Given the description of an element on the screen output the (x, y) to click on. 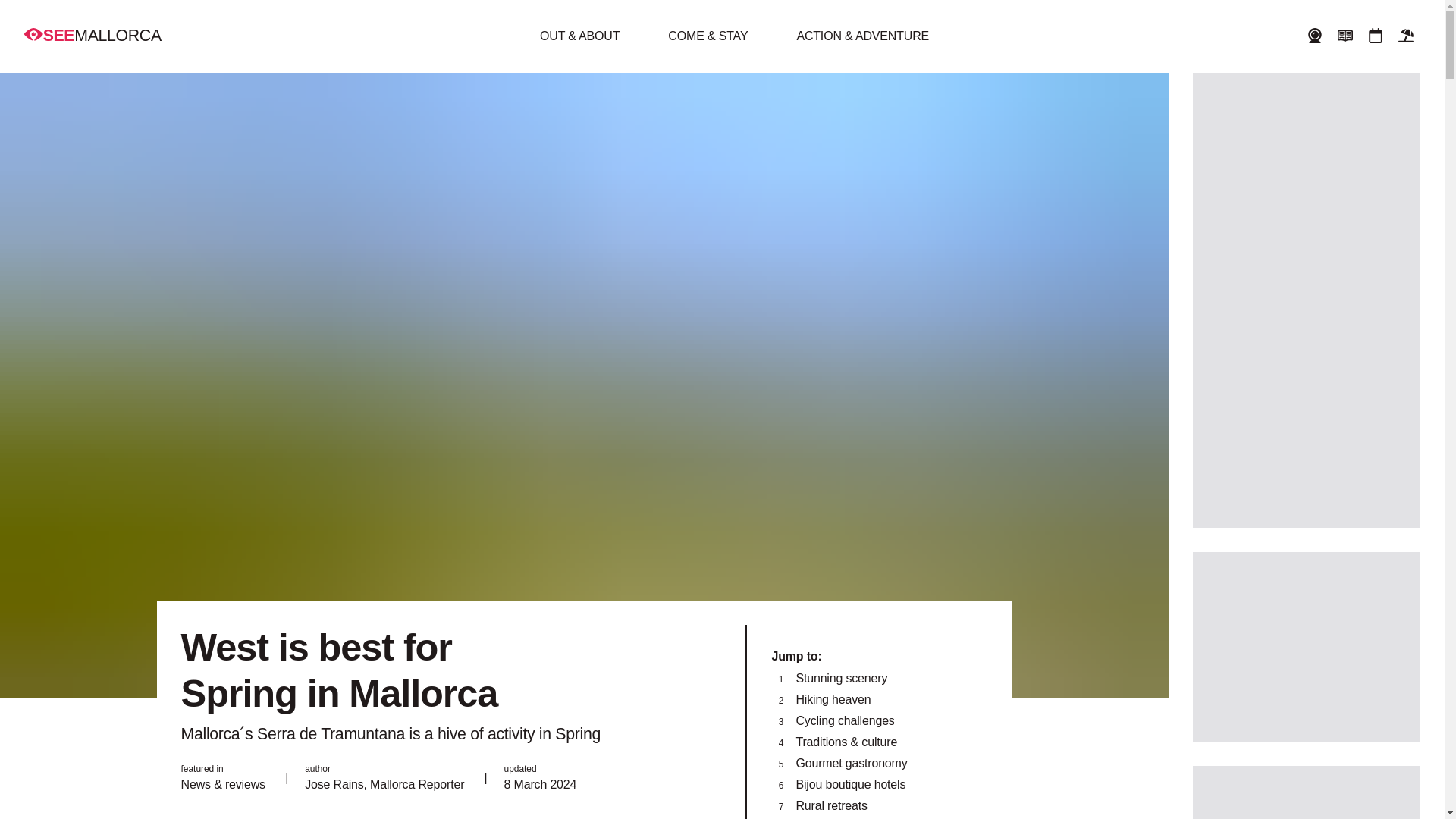
Go to home page (92, 35)
News (1345, 36)
Beaches (1406, 36)
SEEMALLORCA (92, 35)
Events (1375, 36)
Webcams (1314, 36)
